Given the description of an element on the screen output the (x, y) to click on. 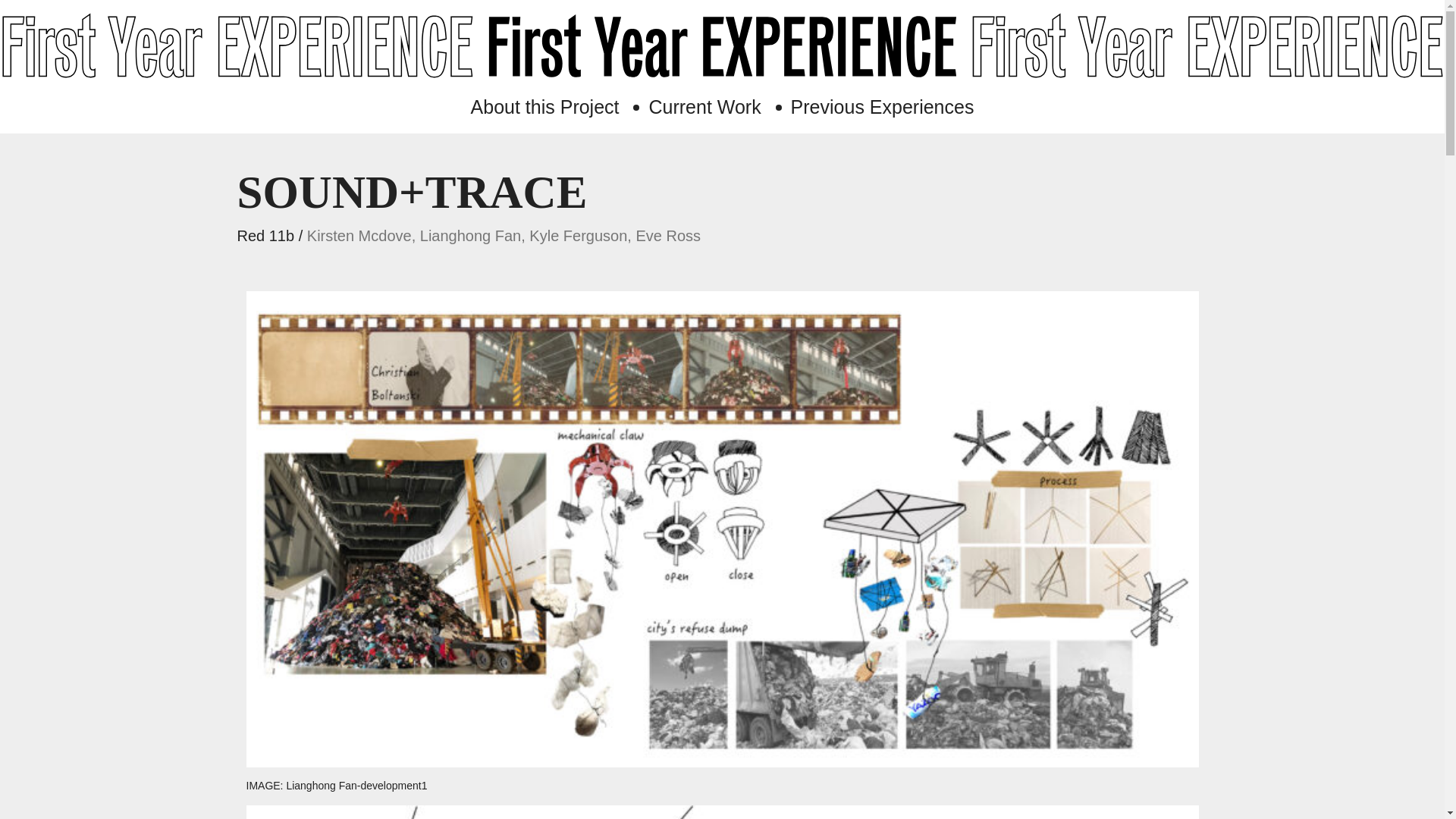
About this Project (545, 106)
Lianghong Fan (470, 235)
Current Work (703, 106)
Kyle Ferguson (578, 235)
Previous Experiences (882, 106)
Kirsten Mcdove (359, 235)
Eve Ross (667, 235)
